Given the description of an element on the screen output the (x, y) to click on. 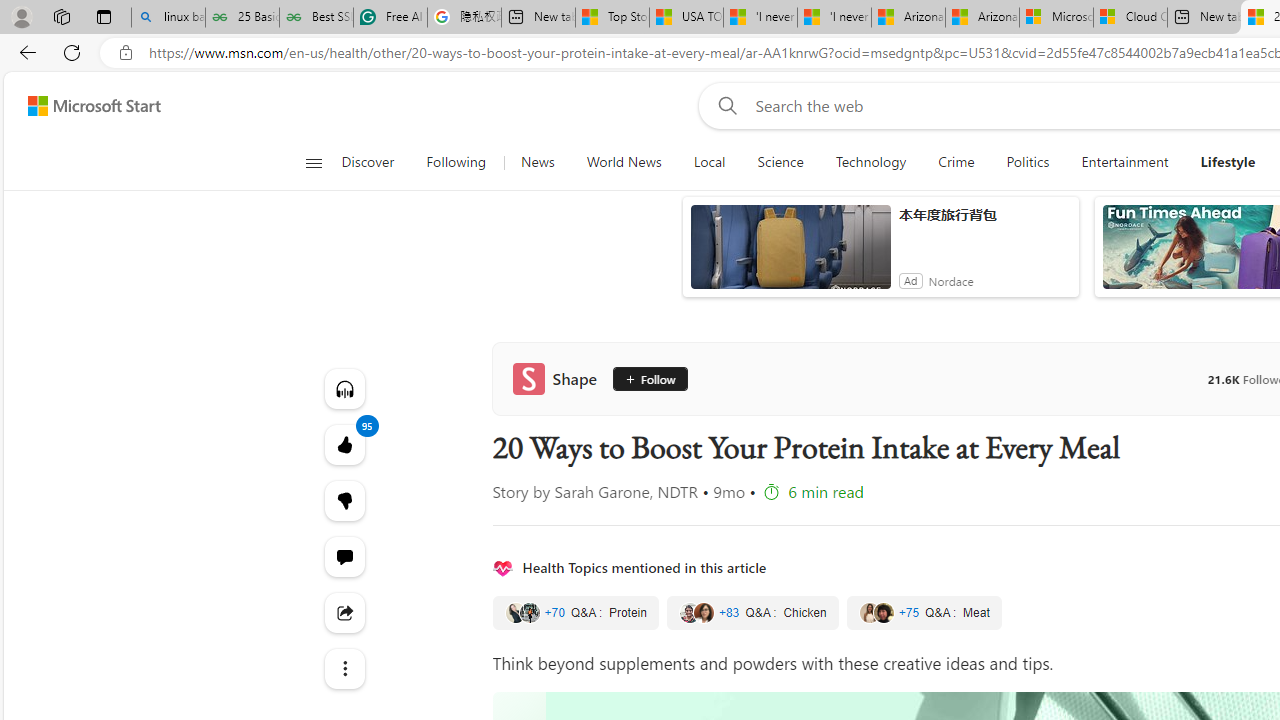
USA TODAY - MSN (686, 17)
Class: at-item (343, 668)
